Given the description of an element on the screen output the (x, y) to click on. 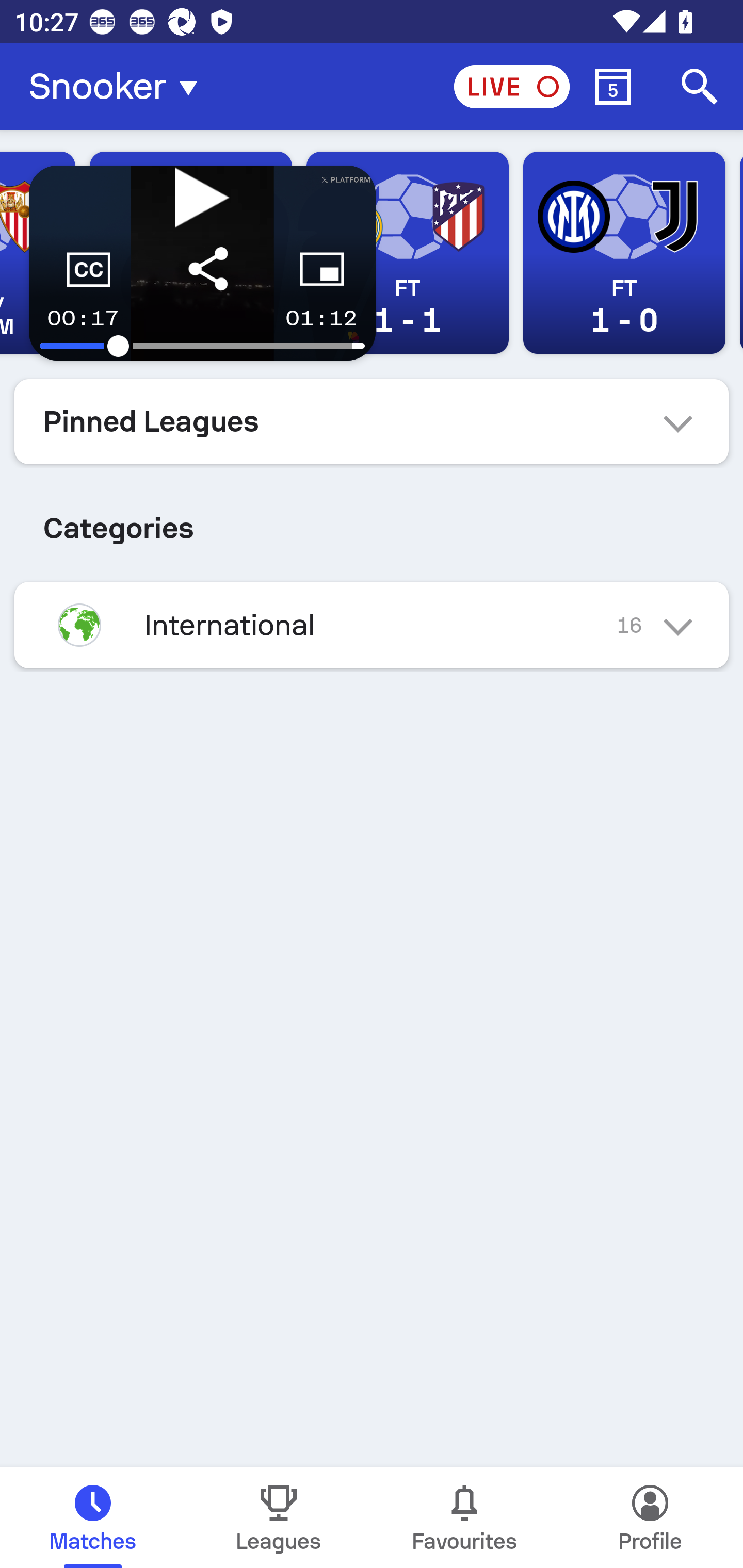
Snooker (118, 86)
Calendar (612, 86)
Search (699, 86)
FT 1 - 0 (624, 253)
Pinned Leagues (371, 421)
Categories (371, 520)
International 16 (371, 624)
Leagues (278, 1517)
Favourites (464, 1517)
Profile (650, 1517)
